Given the description of an element on the screen output the (x, y) to click on. 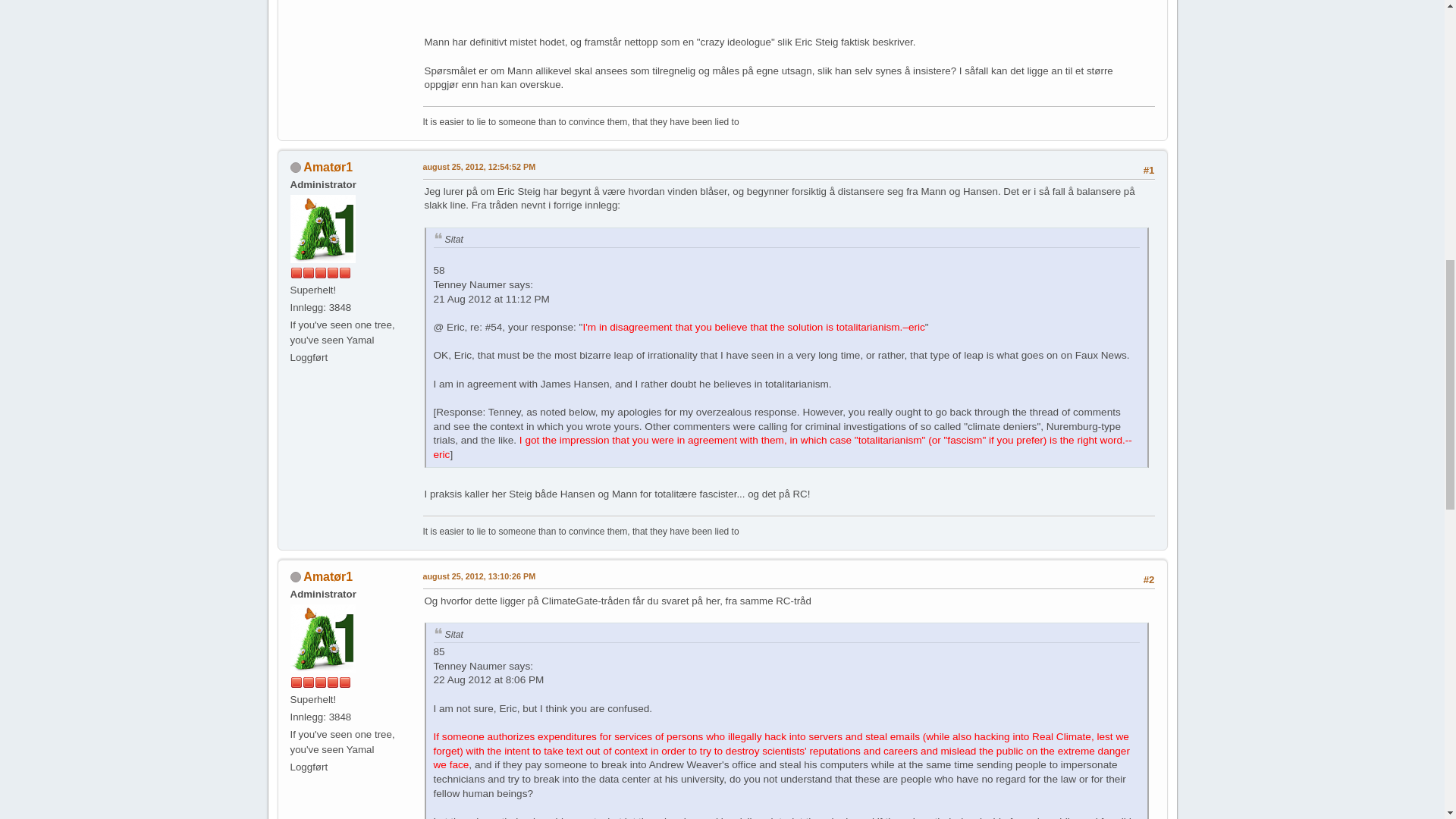
august 25, 2012, 12:54:52 PM (479, 167)
Utlogget (294, 167)
august 25, 2012, 13:10:26 PM (479, 576)
Utlogget (294, 576)
